Given the description of an element on the screen output the (x, y) to click on. 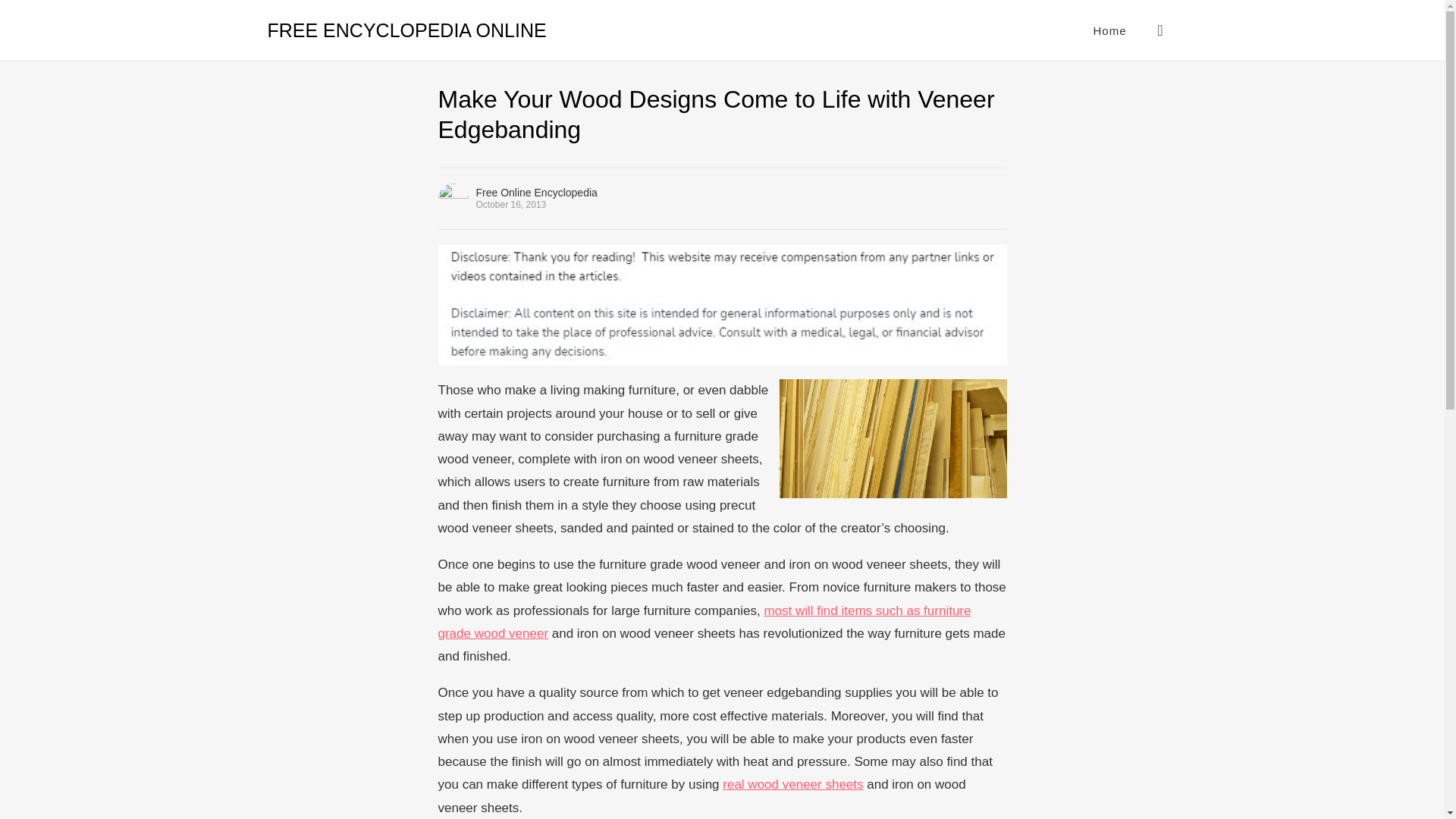
most will find items such as furniture grade wood veneer (704, 621)
October 16, 2013 (511, 204)
Free Online Encyclopedia (536, 192)
Go here (704, 621)
Go here (792, 784)
Home (1109, 30)
Search (1160, 29)
real wood veneer sheets (792, 784)
FREE ENCYCLOPEDIA ONLINE (406, 30)
